Given the description of an element on the screen output the (x, y) to click on. 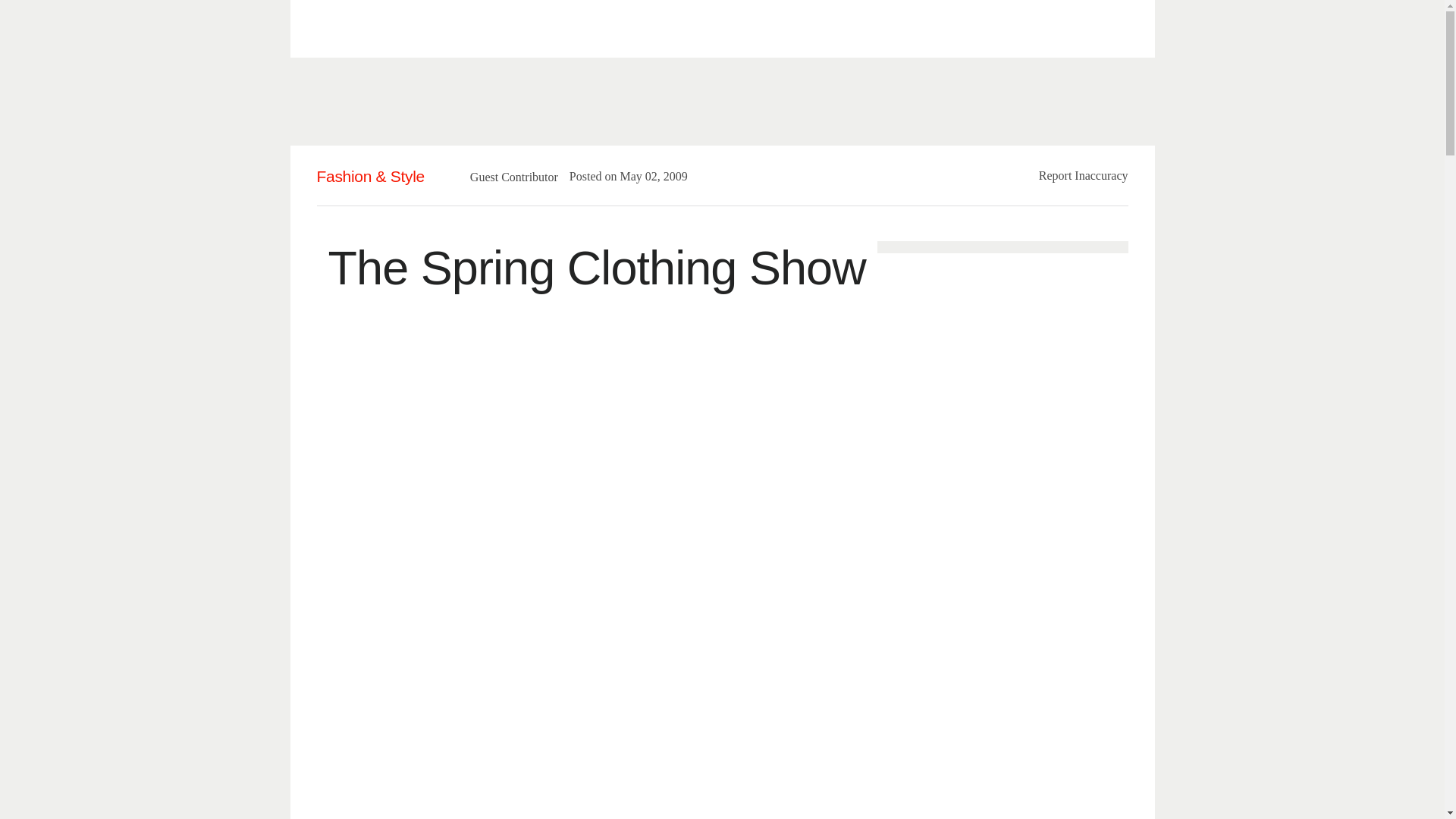
Report Inaccuracy (1083, 174)
2009-05-02T13:53:00 (646, 175)
